Given the description of an element on the screen output the (x, y) to click on. 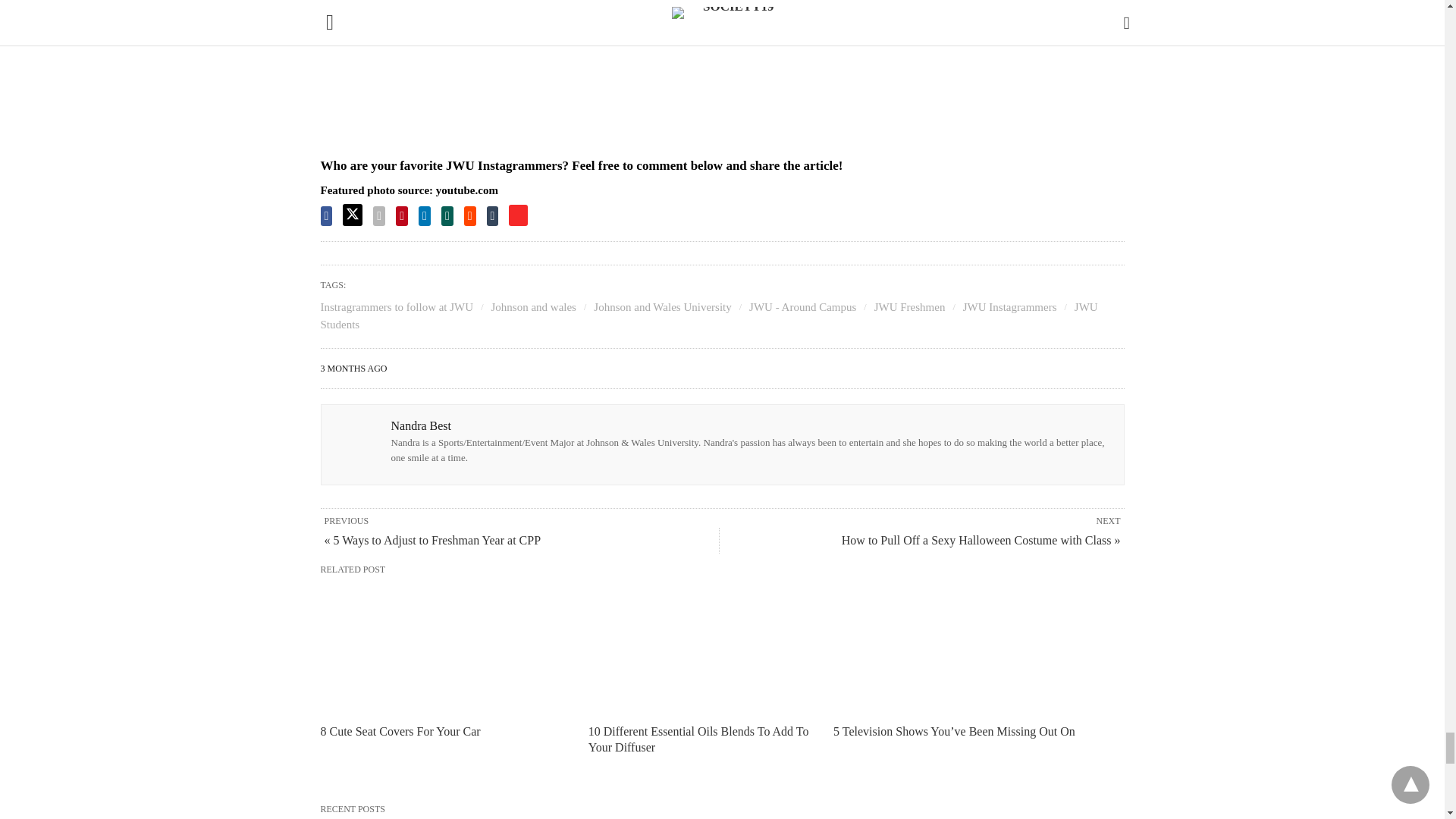
Instragrammers to follow at JWU (396, 306)
Johnson and Wales University (662, 306)
flipboard share (517, 215)
8 Cute Seat Covers For Your Car (442, 649)
8 Cute Seat Covers For Your Car (400, 730)
JWU - Around Campus (802, 306)
JWU Freshmen (909, 306)
10 Different Essential Oils Blends To Add To Your Diffuser (710, 649)
JWU Students (708, 315)
Johnson and wales (533, 306)
